Given the description of an element on the screen output the (x, y) to click on. 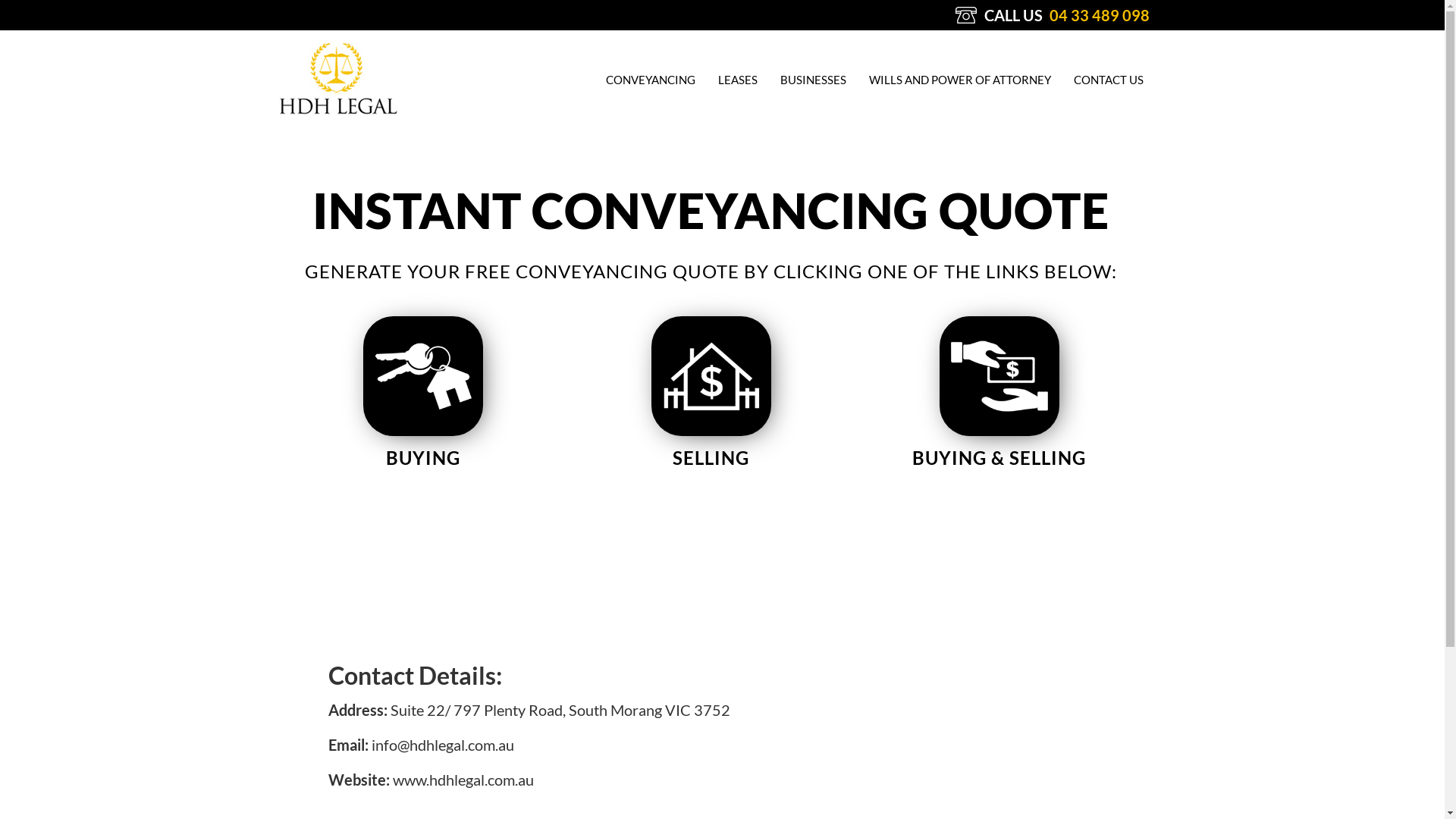
CONTACT US Element type: text (1101, 79)
LEASES Element type: text (737, 79)
BUSINESSES Element type: text (812, 79)
WILLS AND POWER OF ATTORNEY Element type: text (958, 79)
CONVEYANCING Element type: text (650, 79)
